Given the description of an element on the screen output the (x, y) to click on. 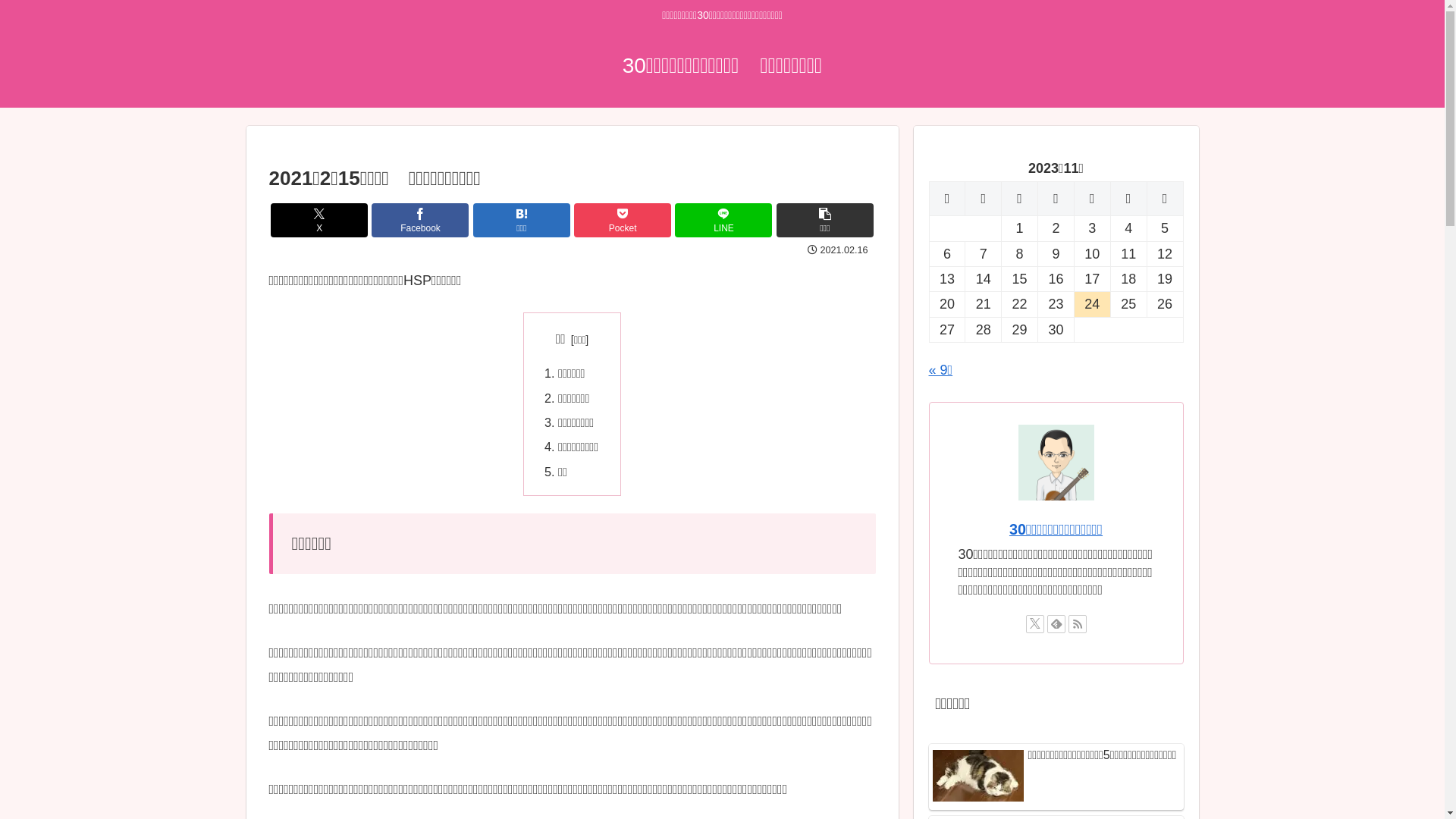
LINE Element type: text (722, 220)
X Element type: text (318, 220)
Pocket Element type: text (622, 220)
Facebook Element type: text (419, 220)
